Given the description of an element on the screen output the (x, y) to click on. 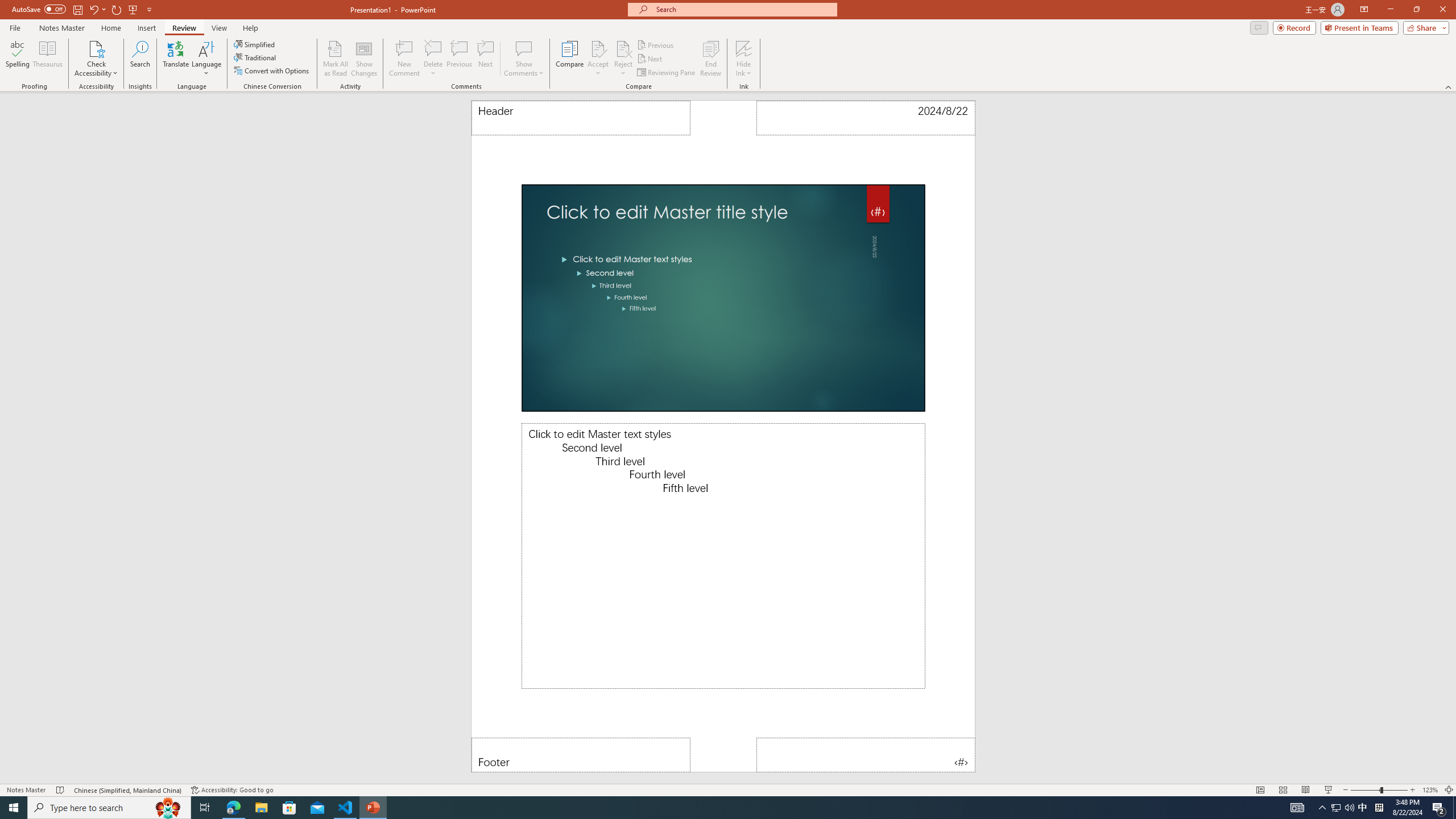
Accept (598, 58)
Reject Change (622, 48)
End Review (710, 58)
Traditional (255, 56)
Reject (622, 58)
